Given the description of an element on the screen output the (x, y) to click on. 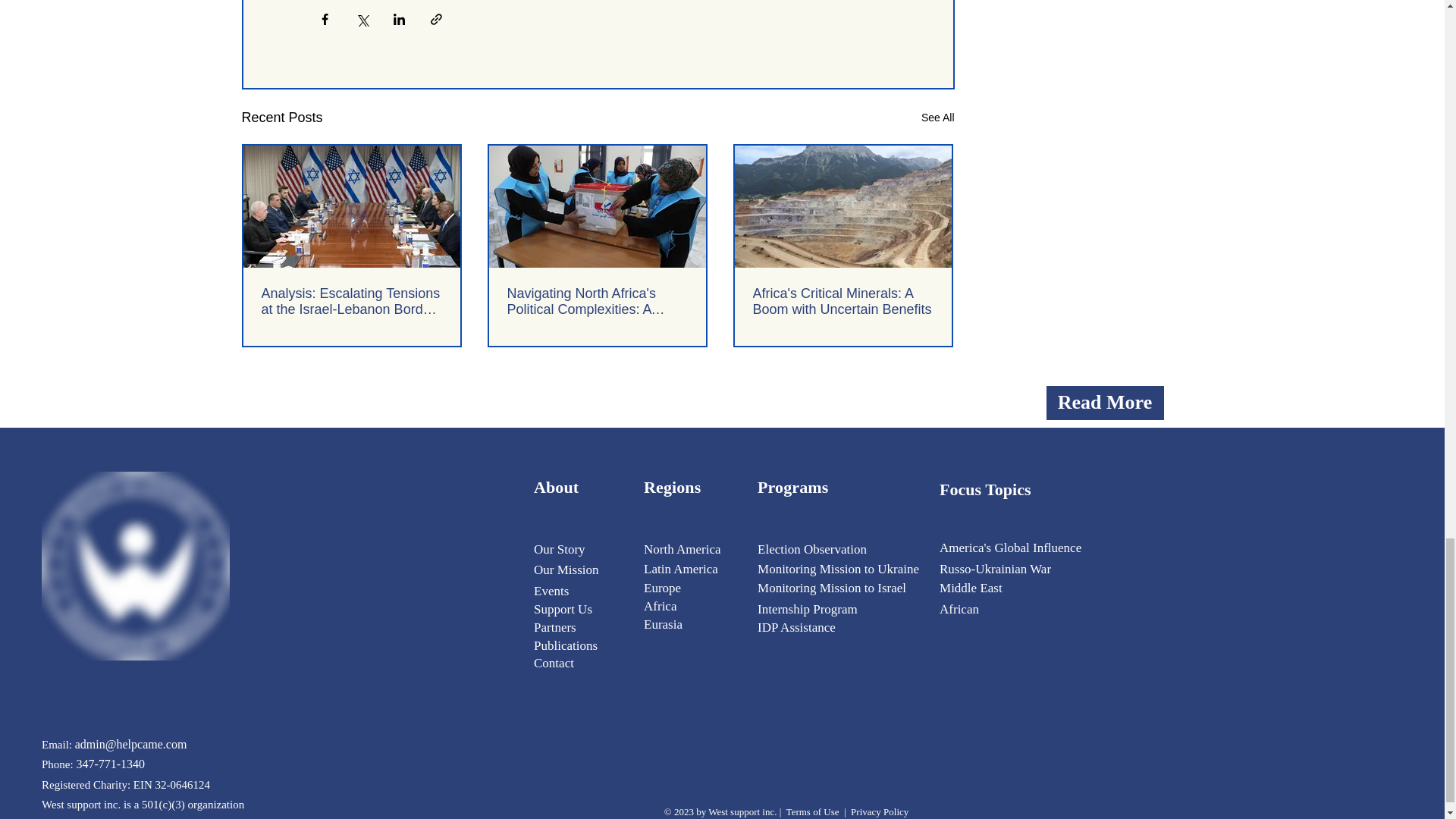
Events (551, 590)
Our Mission  (568, 568)
See All (938, 117)
Our Story (559, 549)
Support Us (563, 608)
Regions (671, 486)
Read More (1104, 402)
Programs (792, 486)
About (556, 486)
North America (681, 549)
Latin America (680, 568)
Europe (662, 587)
Partners (555, 626)
